Given the description of an element on the screen output the (x, y) to click on. 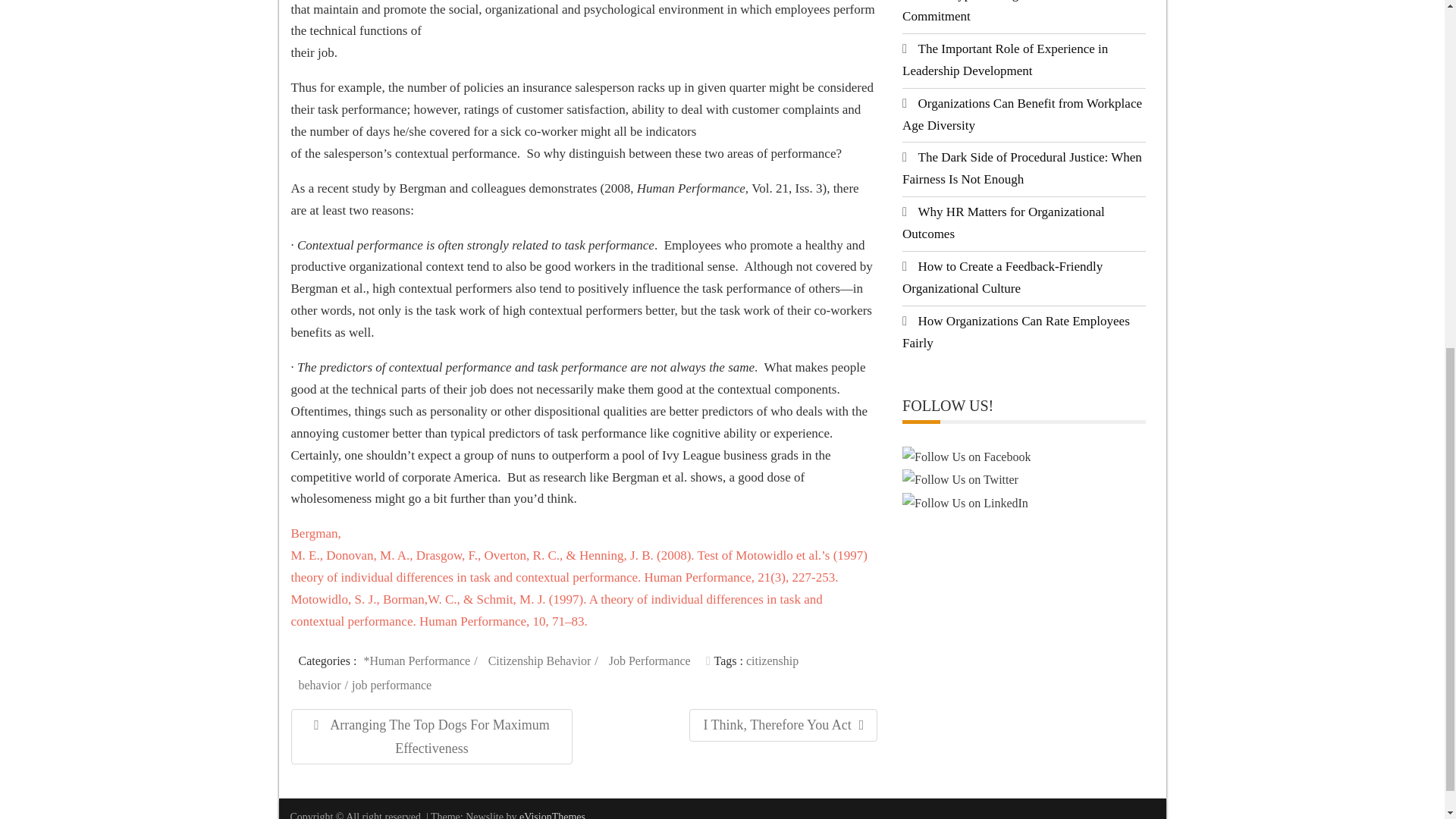
Three Types of Organizational Commitment (988, 11)
How Organizations Can Rate Employees Fairly (1015, 331)
Why HR Matters for Organizational Outcomes (1003, 222)
citizenship behavior (548, 672)
The Important Role of Experience in Leadership Development (1005, 59)
job performance (393, 684)
Follow Us on Twitter (782, 725)
Organizations Can Benefit from Workplace Age Diversity (959, 479)
Job Performance (1021, 114)
Follow Us on LinkedIn (651, 660)
Citizenship Behavior (964, 503)
Follow Us on Facebook (542, 660)
